Given the description of an element on the screen output the (x, y) to click on. 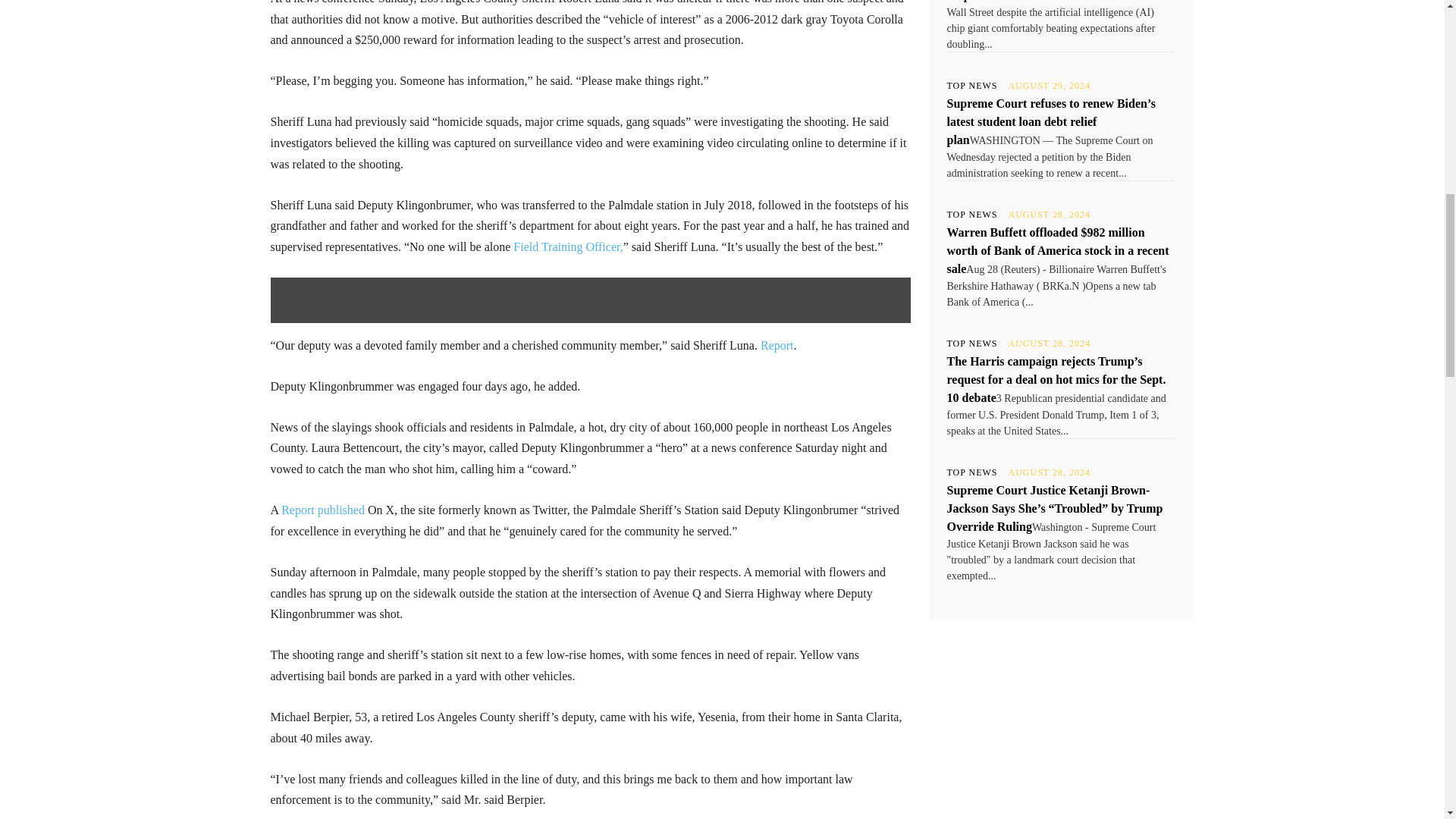
TOP NEWS (971, 343)
Report (776, 345)
Report published (323, 509)
TOP NEWS (971, 214)
Field Training Officer, (568, 246)
TOP NEWS (971, 471)
TOP NEWS (971, 85)
